Given the description of an element on the screen output the (x, y) to click on. 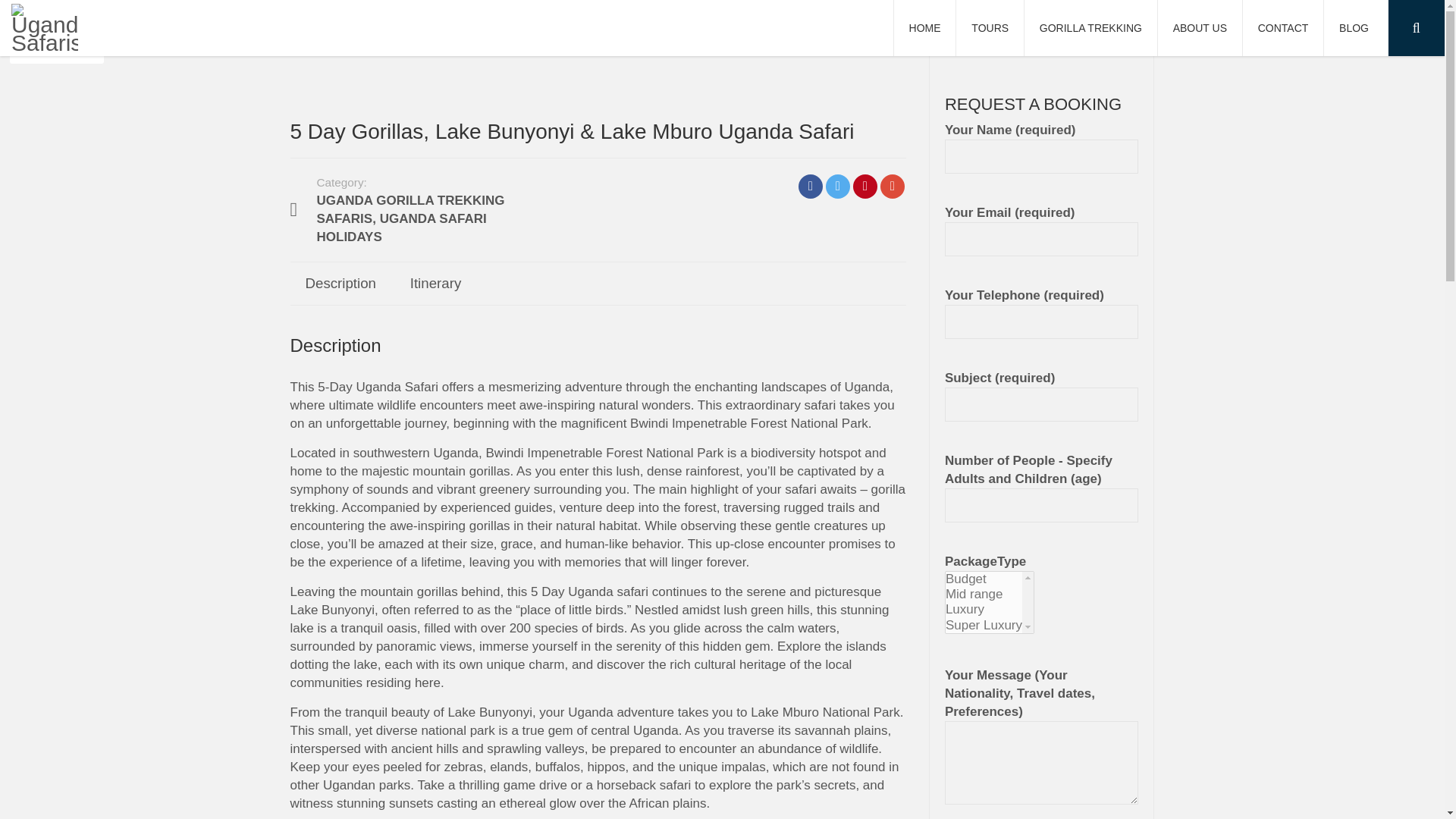
Itinerary (435, 283)
Bwindi Impenetrable Forest National Park (604, 452)
ABOUT US (1200, 28)
Uganda Safaris - Uganda Safaris and Tours (44, 25)
Description Itinerary (597, 283)
CONTACT (1282, 28)
gorilla trekking (596, 498)
Lake Mburo National Park (825, 712)
Description Itinerary (597, 283)
UGANDA GORILLA TREKKING SAFARIS (411, 209)
Description (339, 283)
UGANDA SAFARI HOLIDAYS (401, 227)
GORILLA TREKKING (1090, 28)
Lake Bunyonyi (331, 609)
